Given the description of an element on the screen output the (x, y) to click on. 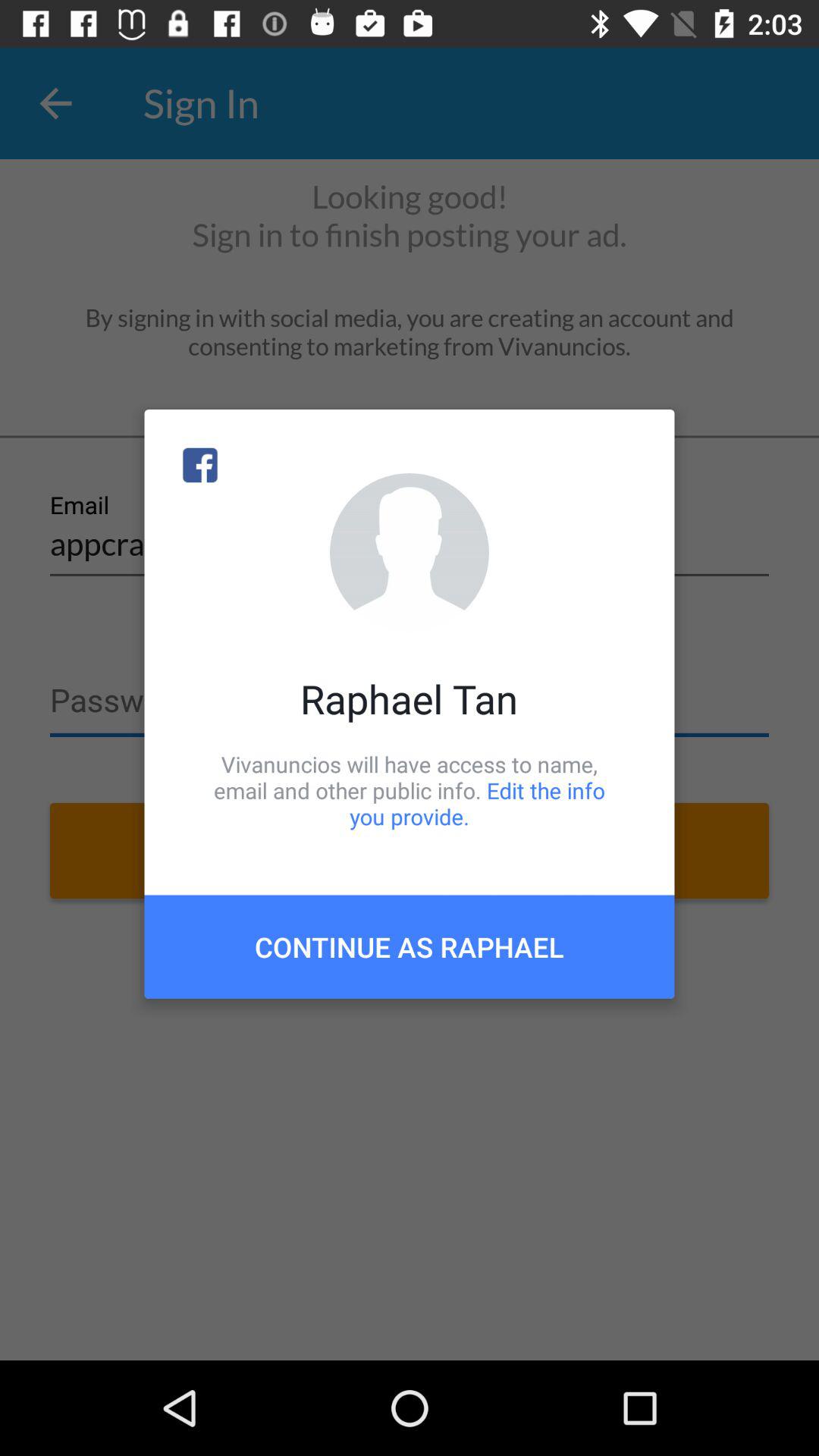
swipe to continue as raphael item (409, 946)
